Given the description of an element on the screen output the (x, y) to click on. 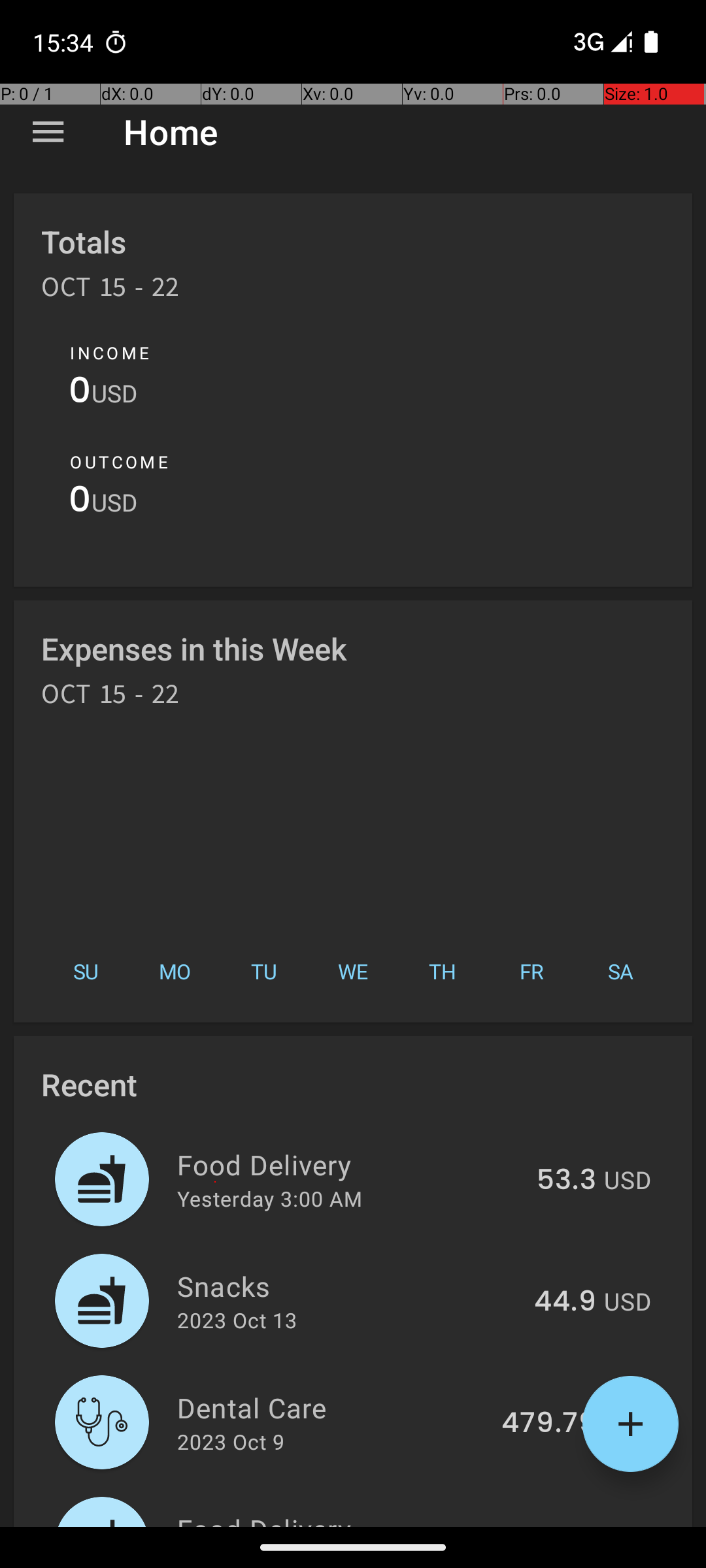
Food Delivery Element type: android.widget.TextView (349, 1164)
Yesterday 3:00 AM Element type: android.widget.TextView (269, 1198)
53.3 Element type: android.widget.TextView (566, 1180)
Snacks Element type: android.widget.TextView (347, 1285)
44.9 Element type: android.widget.TextView (564, 1301)
479.79 Element type: android.widget.TextView (548, 1423)
39.73 Element type: android.widget.TextView (557, 1524)
